Given the description of an element on the screen output the (x, y) to click on. 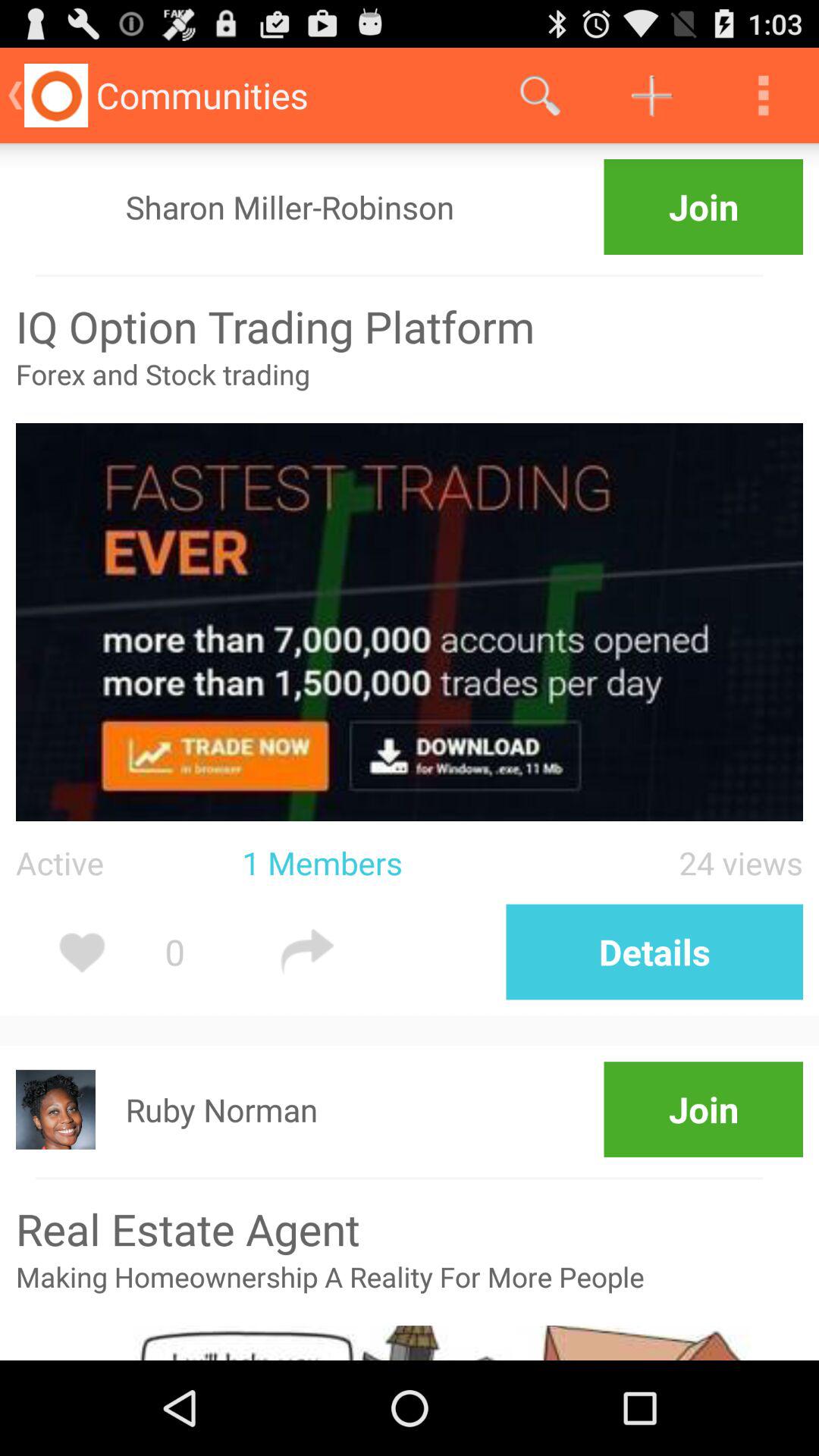
tap sharon miller-robinson icon (289, 206)
